Given the description of an element on the screen output the (x, y) to click on. 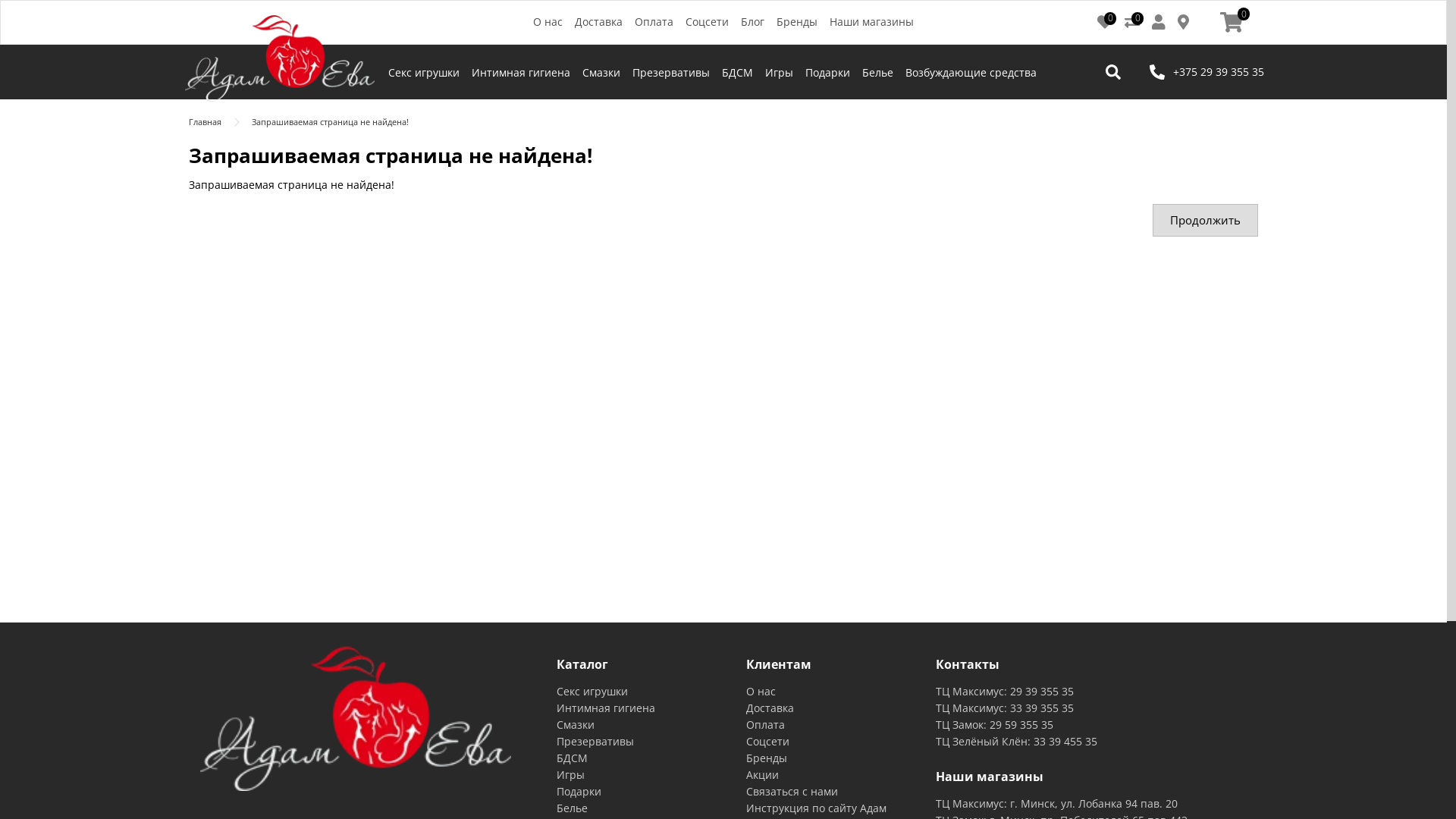
+375 29 39 355 35 Element type: text (1204, 71)
0 Element type: text (1231, 21)
0 Element type: text (1104, 23)
0 Element type: text (1131, 23)
